Given the description of an element on the screen output the (x, y) to click on. 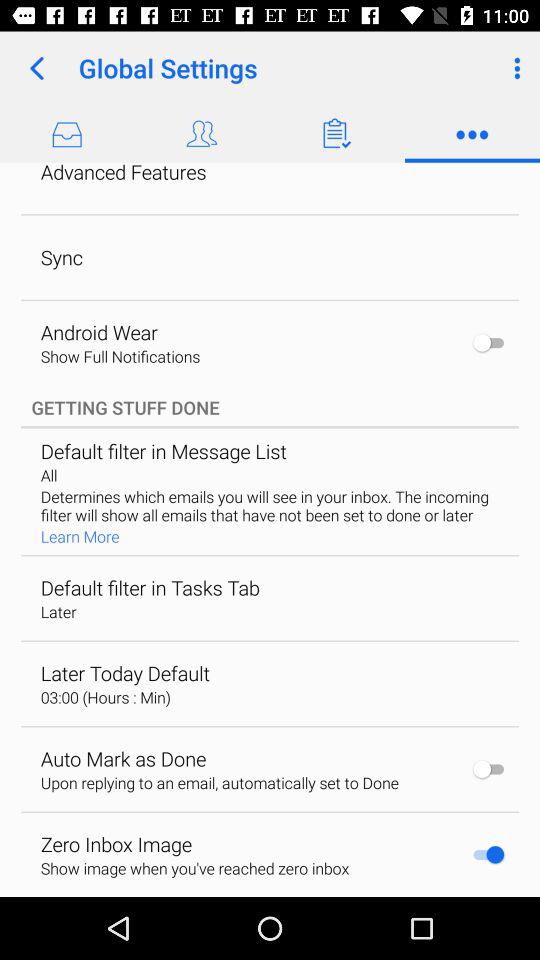
tap the show full notifications item (120, 356)
